Given the description of an element on the screen output the (x, y) to click on. 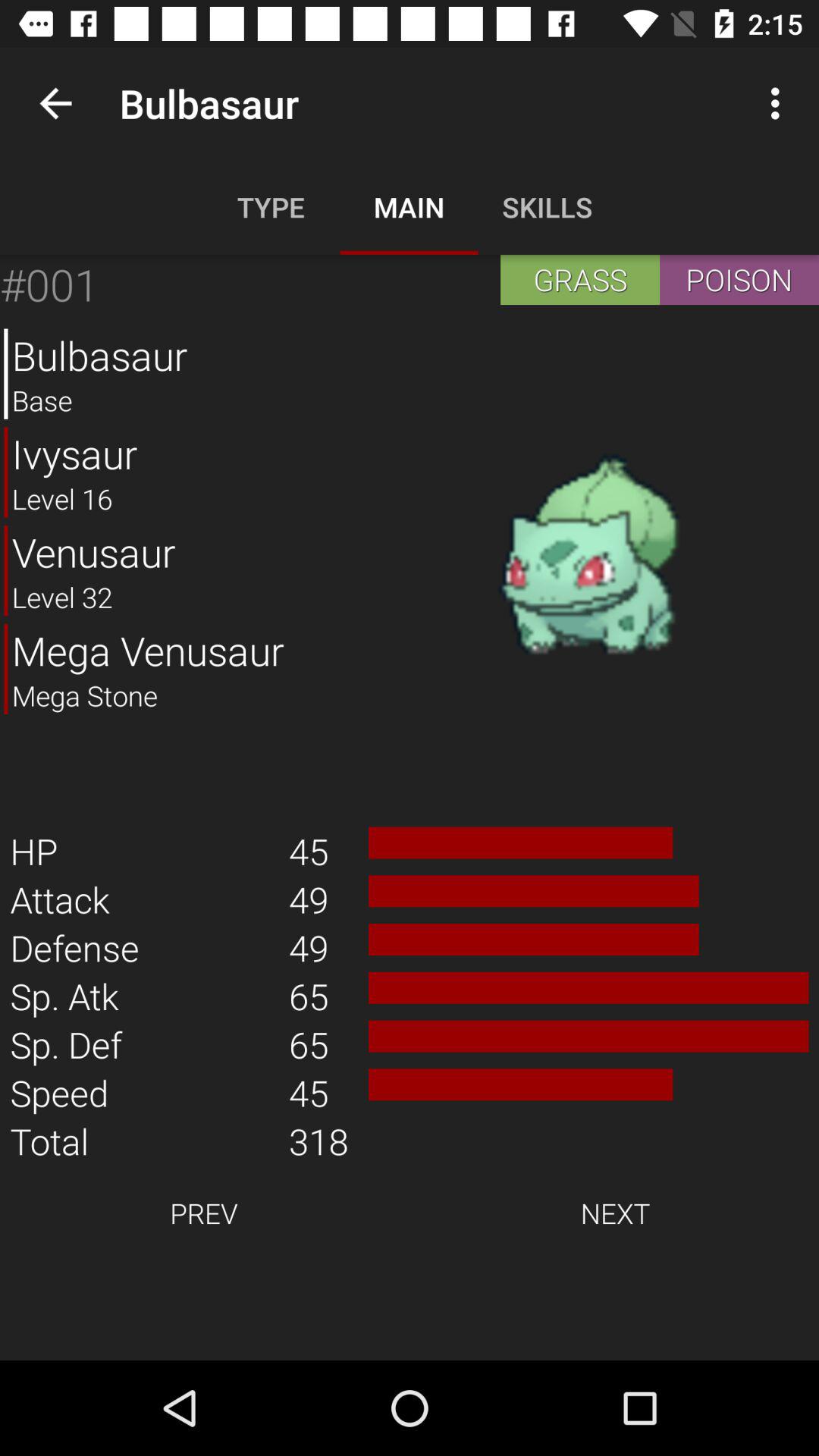
click icon above the 45 item (588, 555)
